Given the description of an element on the screen output the (x, y) to click on. 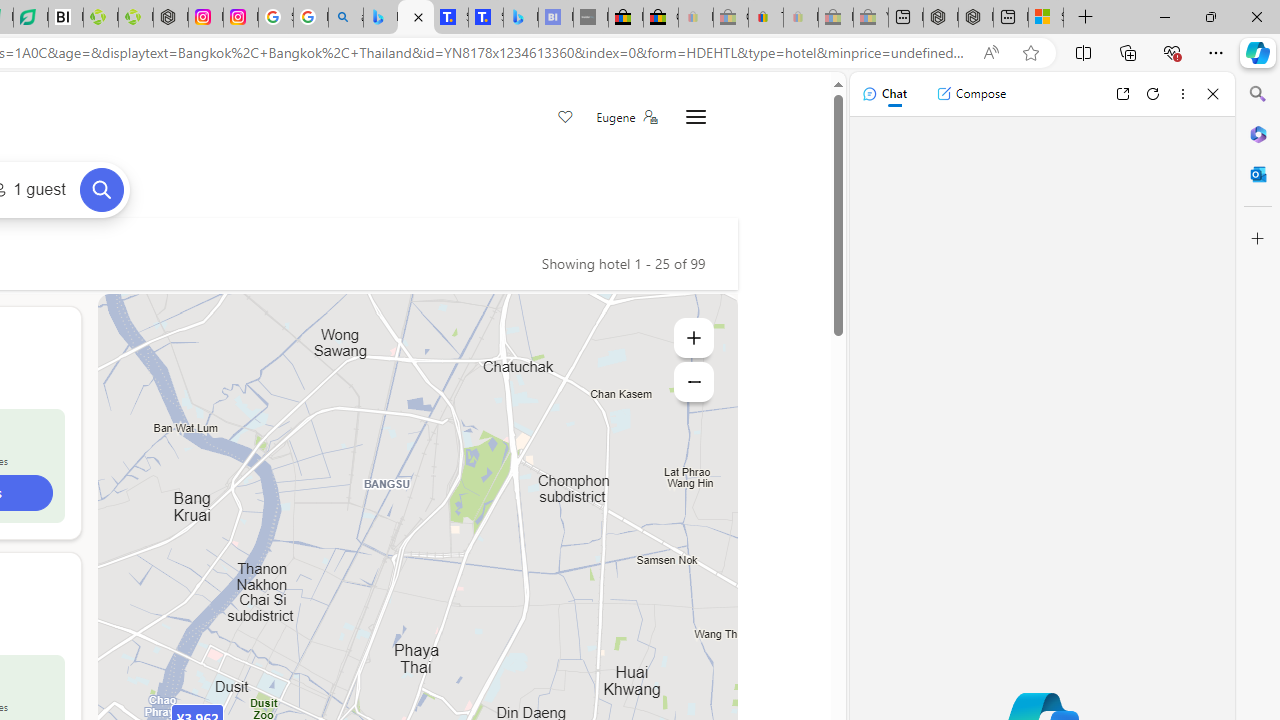
Compose (971, 93)
alabama high school quarterback dies - Search (346, 17)
Nordace - Summer Adventures 2024 (975, 17)
Yard, Garden & Outdoor Living - Sleeping (870, 17)
Zoom out (693, 381)
